Given the description of an element on the screen output the (x, y) to click on. 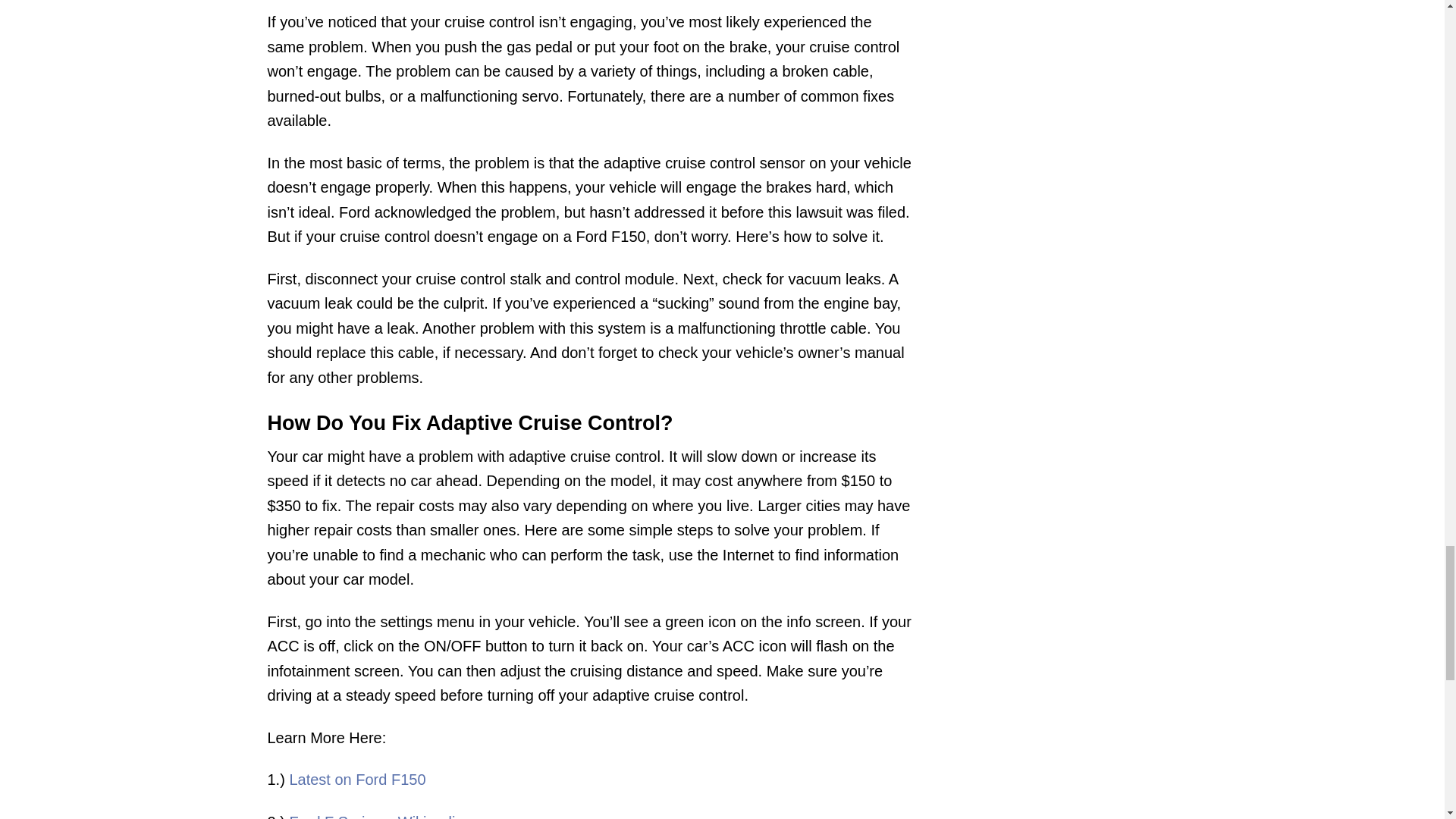
Latest on Ford F150 (356, 779)
